Given the description of an element on the screen output the (x, y) to click on. 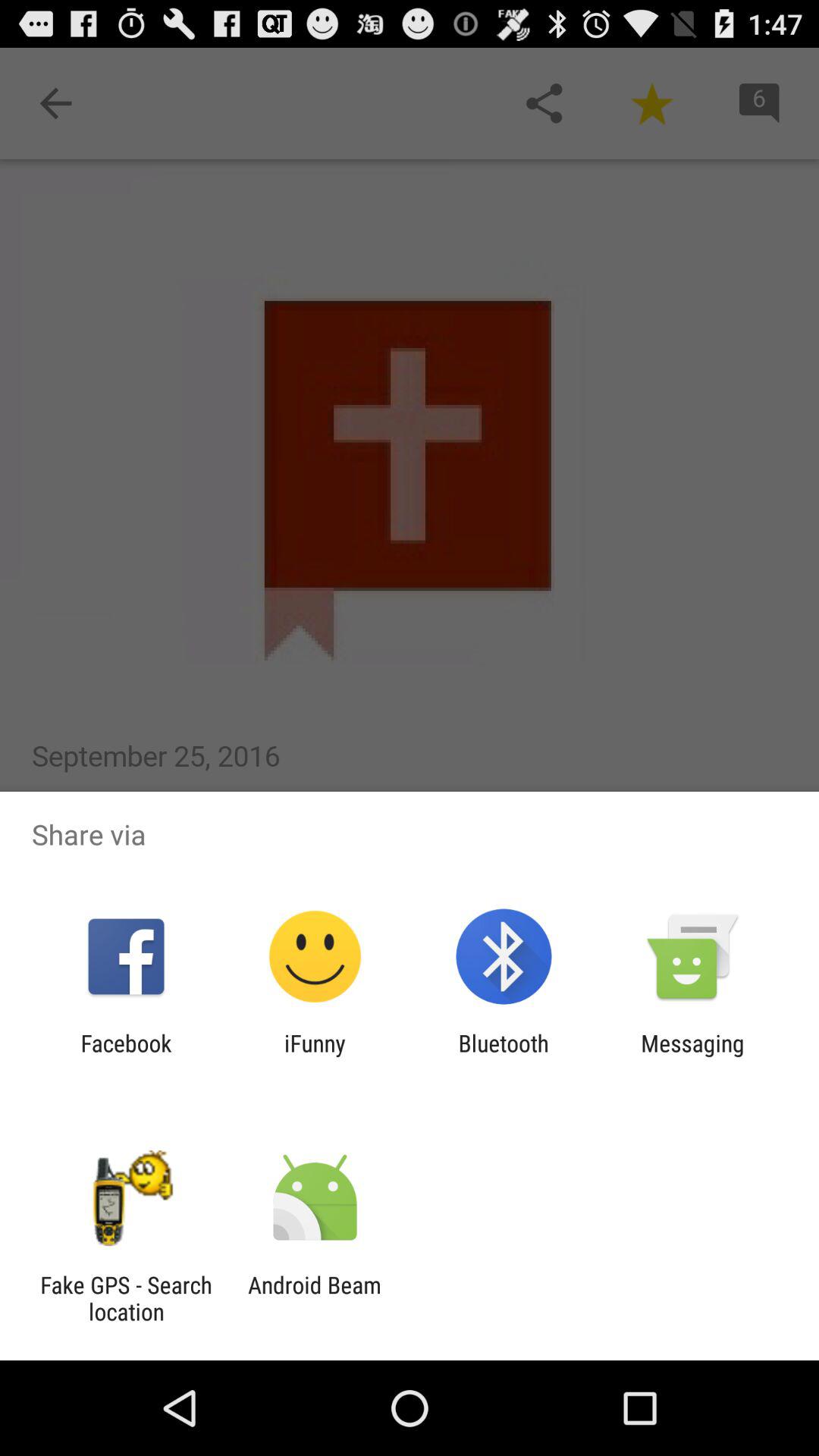
turn off the app to the left of android beam item (125, 1298)
